Given the description of an element on the screen output the (x, y) to click on. 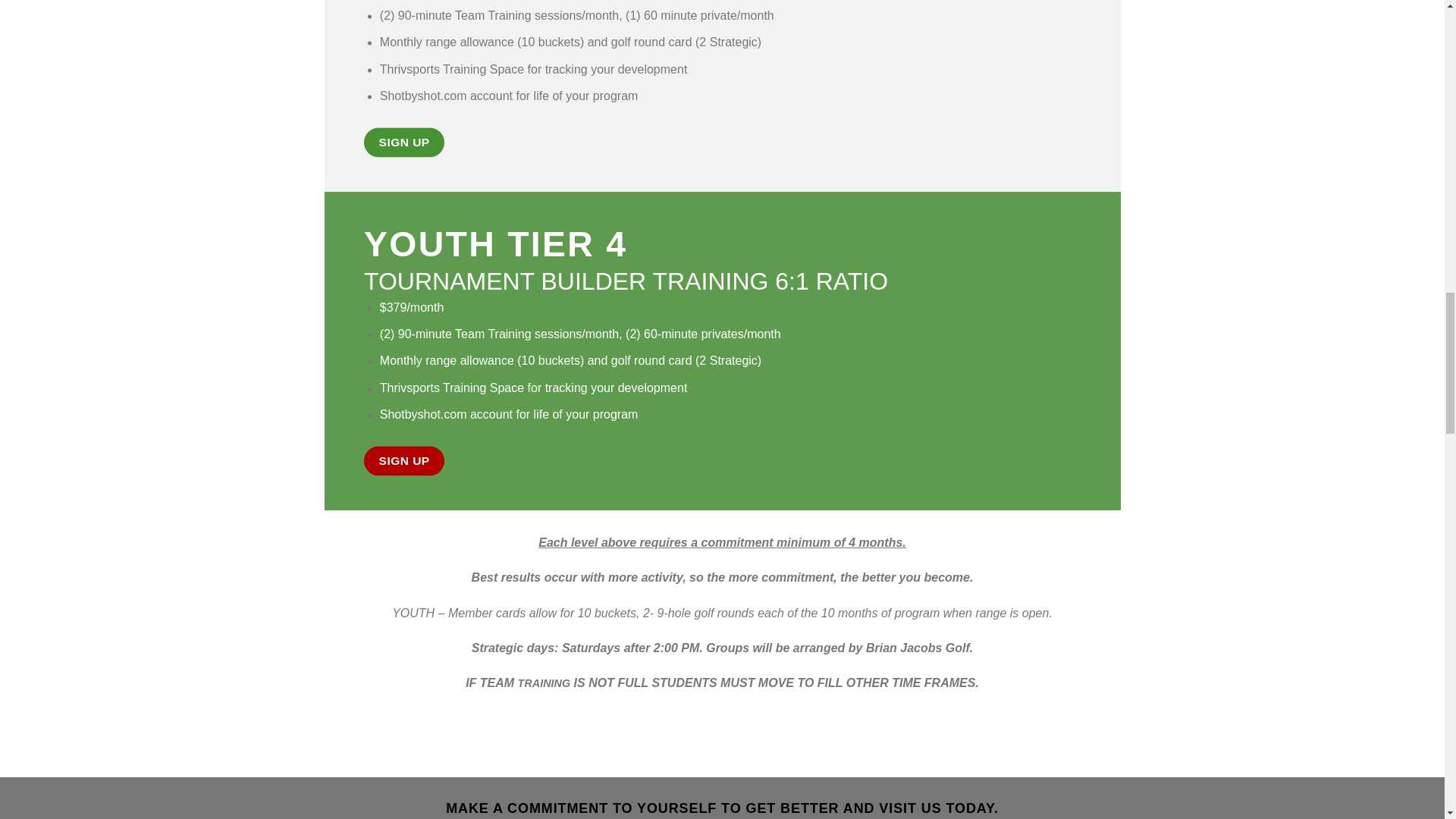
SIGN UP (404, 460)
SIGN UP (404, 142)
